Given the description of an element on the screen output the (x, y) to click on. 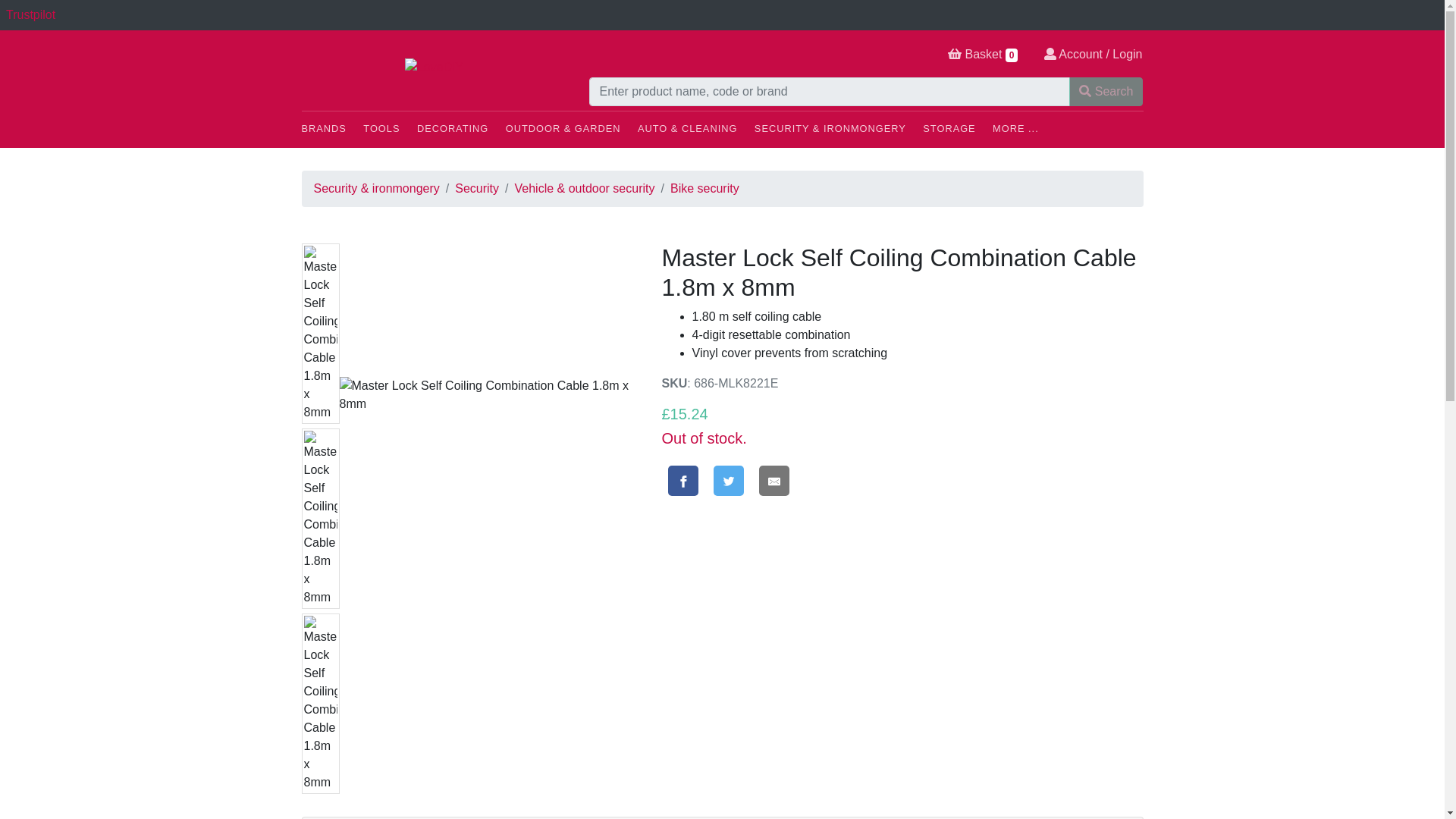
TOOLS (387, 130)
LoveDIY - The heart of home improvements (434, 66)
Search (1105, 91)
BRANDS (330, 130)
Trustpilot (30, 14)
Basket 0 (982, 54)
